Given the description of an element on the screen output the (x, y) to click on. 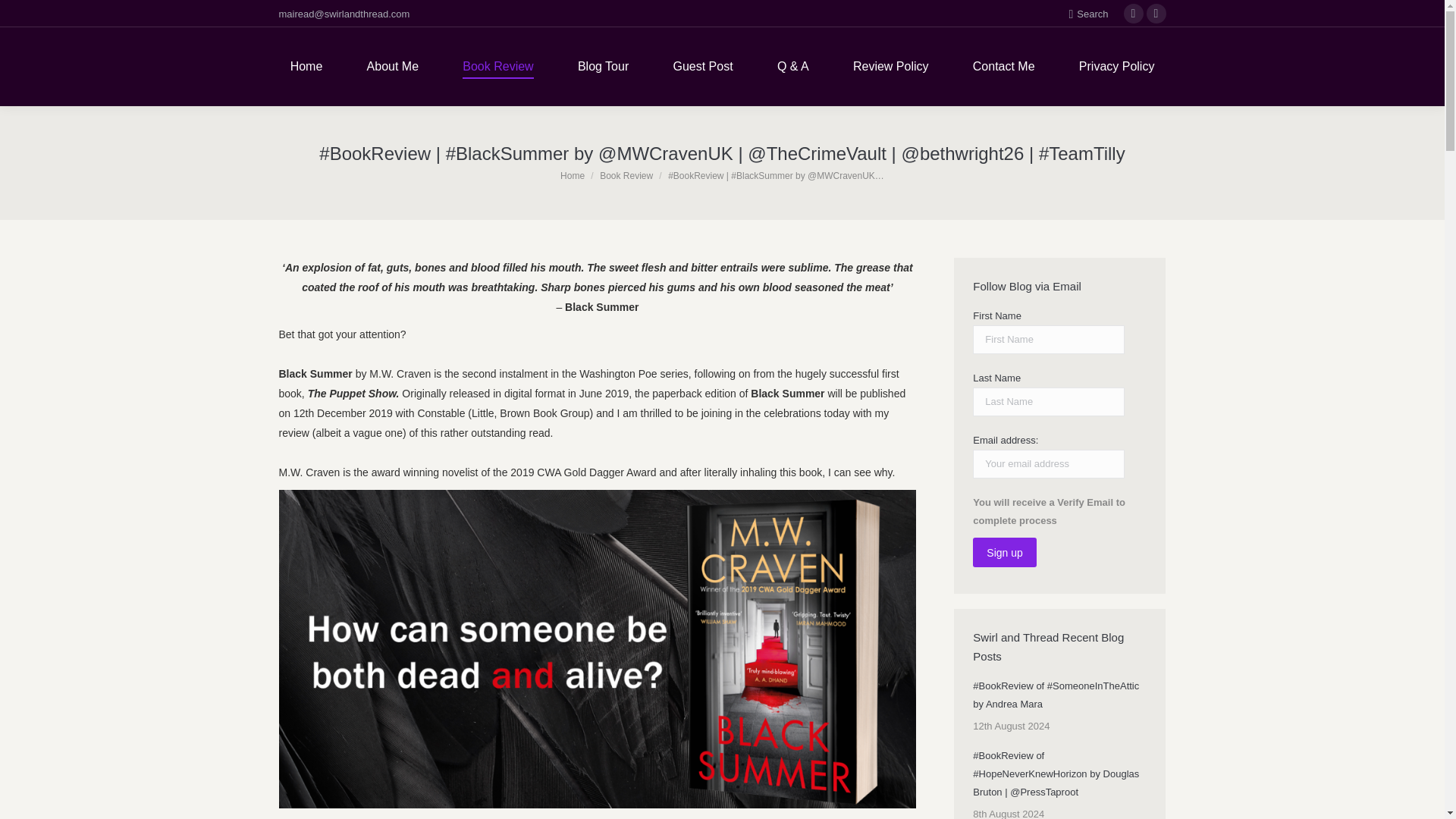
Blog Tour (603, 66)
Book Review (625, 174)
Home (572, 174)
Search (1088, 12)
Privacy Policy (1116, 66)
Facebook page opens in new window (1133, 13)
Twitter page opens in new window (1156, 13)
Review Policy (890, 66)
Go! (24, 16)
Book Review (497, 66)
